Given the description of an element on the screen output the (x, y) to click on. 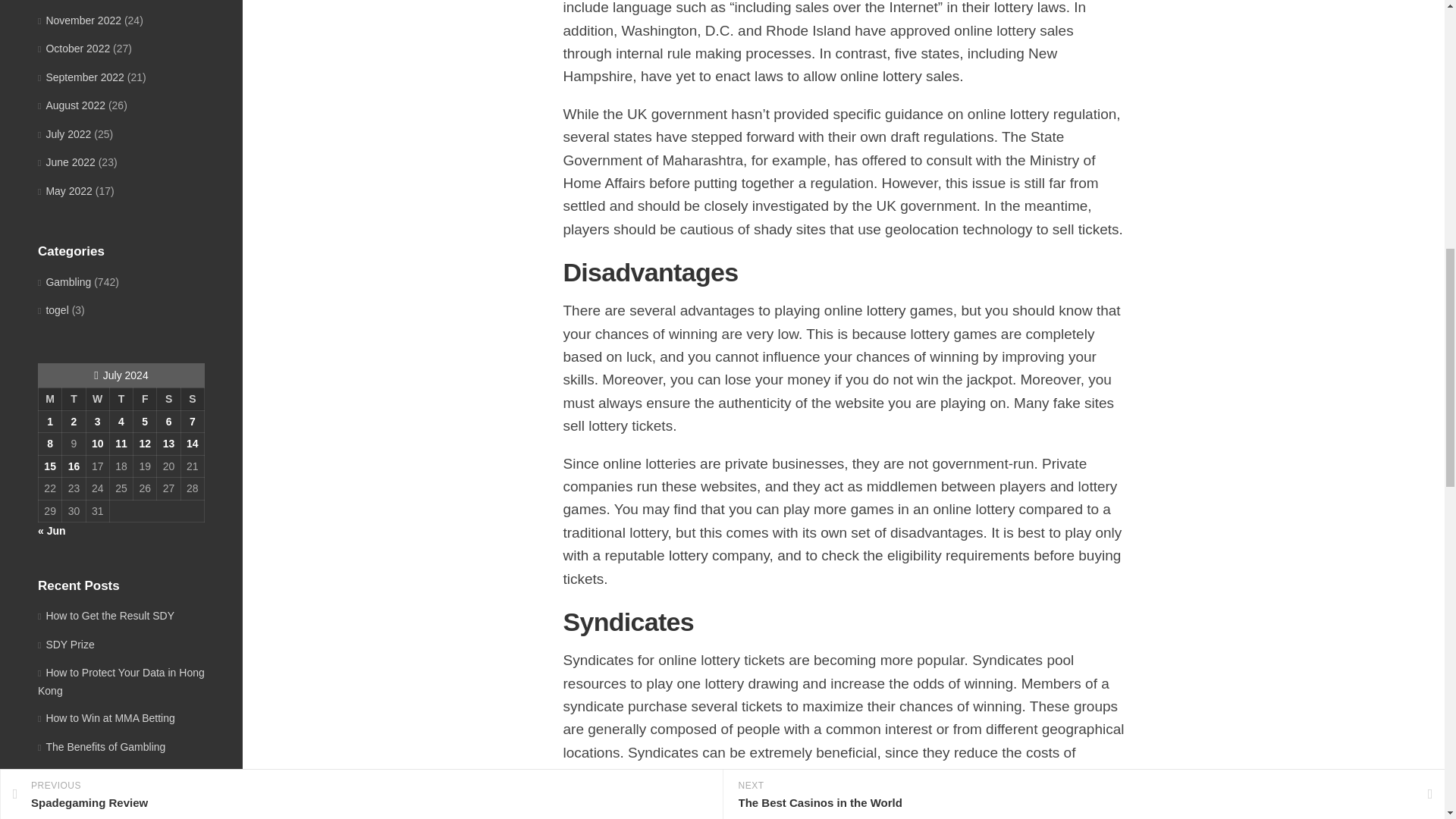
August 2022 (70, 105)
Monday (49, 399)
Sunday (191, 399)
November 2022 (78, 19)
Wednesday (97, 399)
Thursday (120, 399)
September 2022 (80, 77)
October 2022 (73, 48)
Saturday (168, 399)
Friday (145, 399)
Tuesday (73, 399)
